Given the description of an element on the screen output the (x, y) to click on. 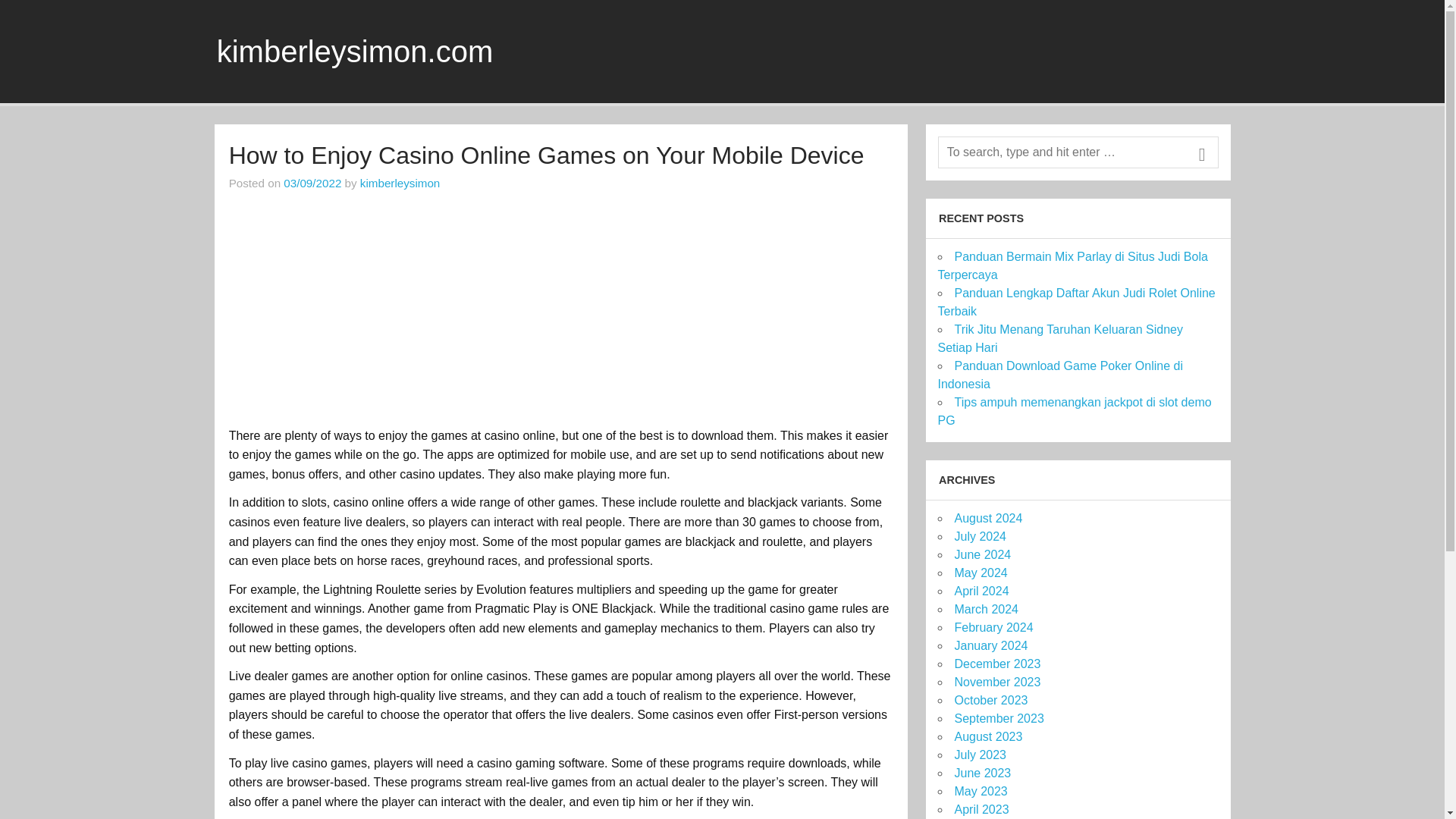
kimberleysimon (400, 182)
November 2023 (997, 681)
June 2024 (981, 554)
Trik Jitu Menang Taruhan Keluaran Sidney Setiap Hari (1059, 337)
March 2024 (985, 608)
May 2023 (980, 790)
Tips ampuh memenangkan jackpot di slot demo PG (1074, 410)
September 2023 (998, 717)
kimberleysimon.com (354, 51)
August 2023 (987, 736)
